Given the description of an element on the screen output the (x, y) to click on. 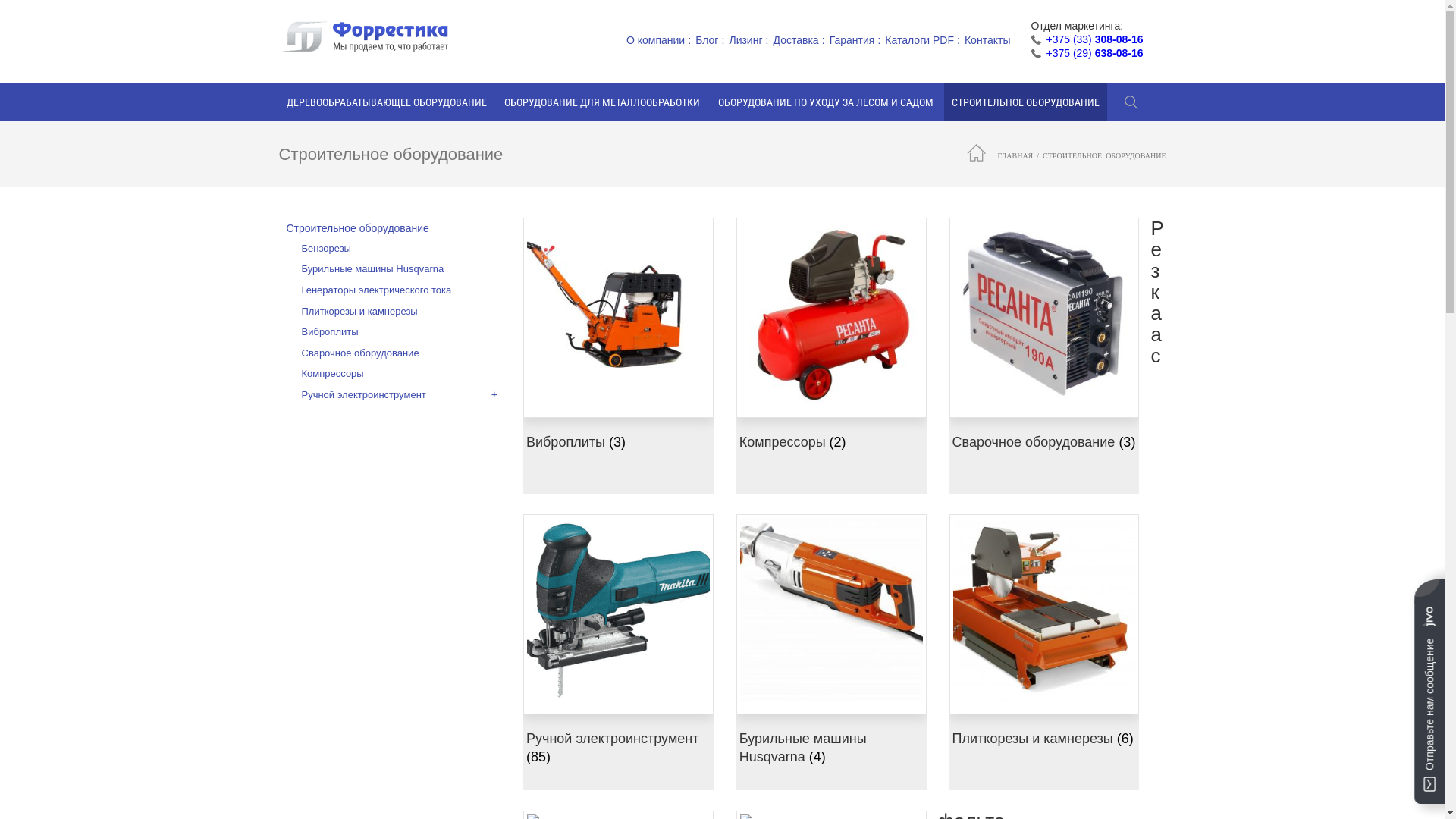
+375 (29) 638-08-16 Element type: text (1093, 53)
+375 (33) 308-08-16 Element type: text (1093, 39)
